Given the description of an element on the screen output the (x, y) to click on. 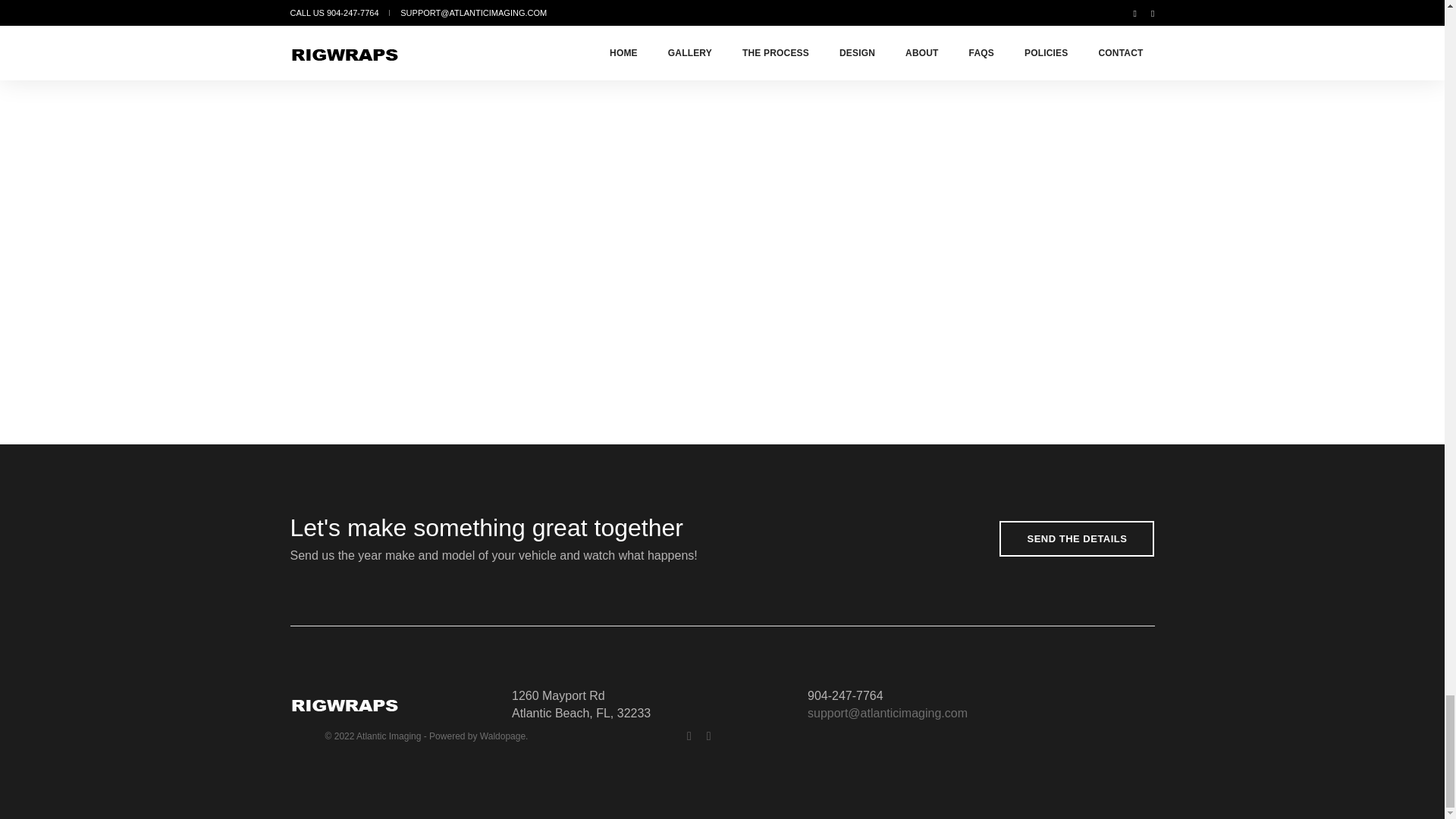
SEND THE DETAILS (1076, 538)
Waldopage (502, 736)
Waldopage (502, 736)
